Given the description of an element on the screen output the (x, y) to click on. 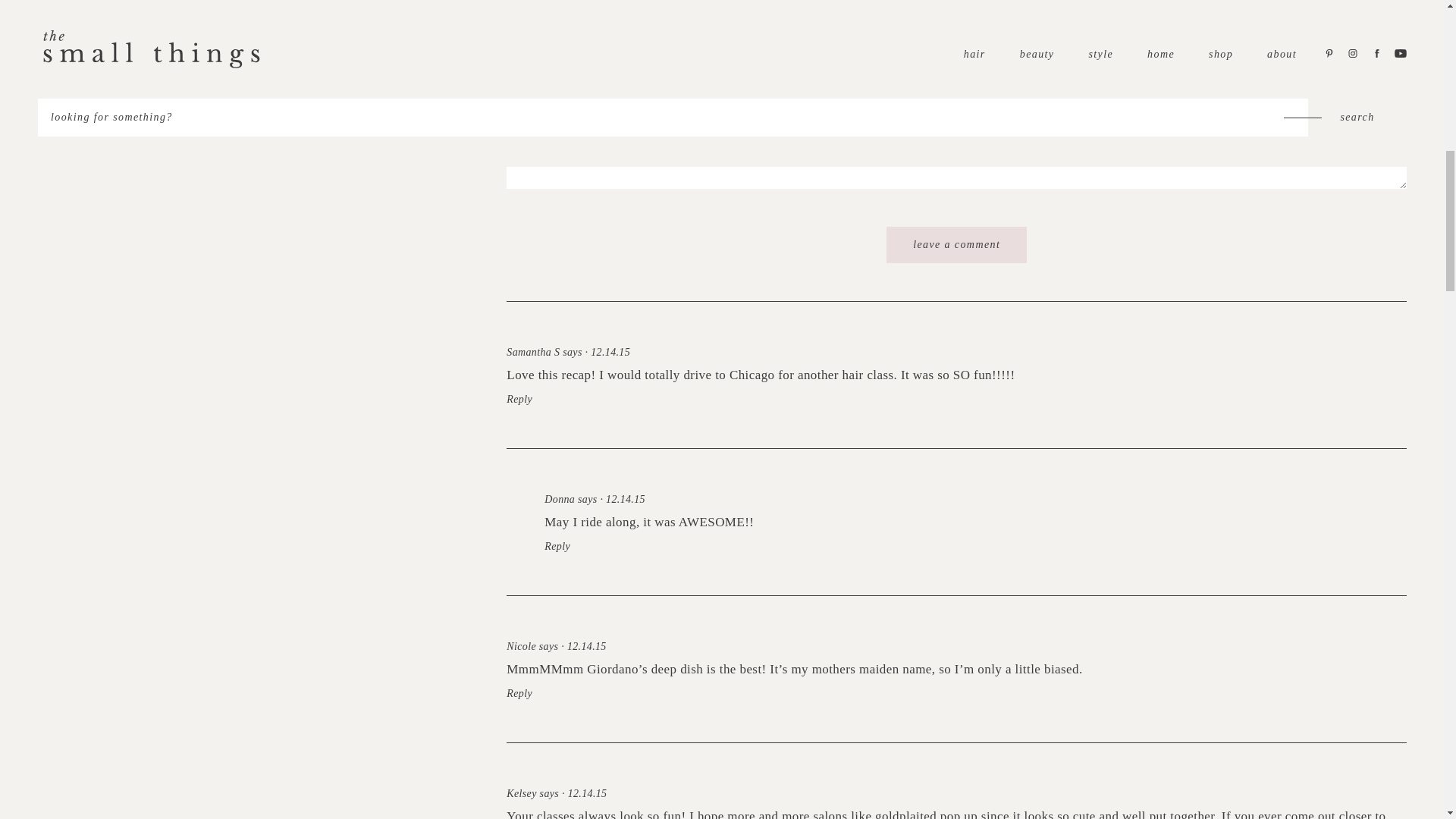
leave a comment (956, 244)
